Given the description of an element on the screen output the (x, y) to click on. 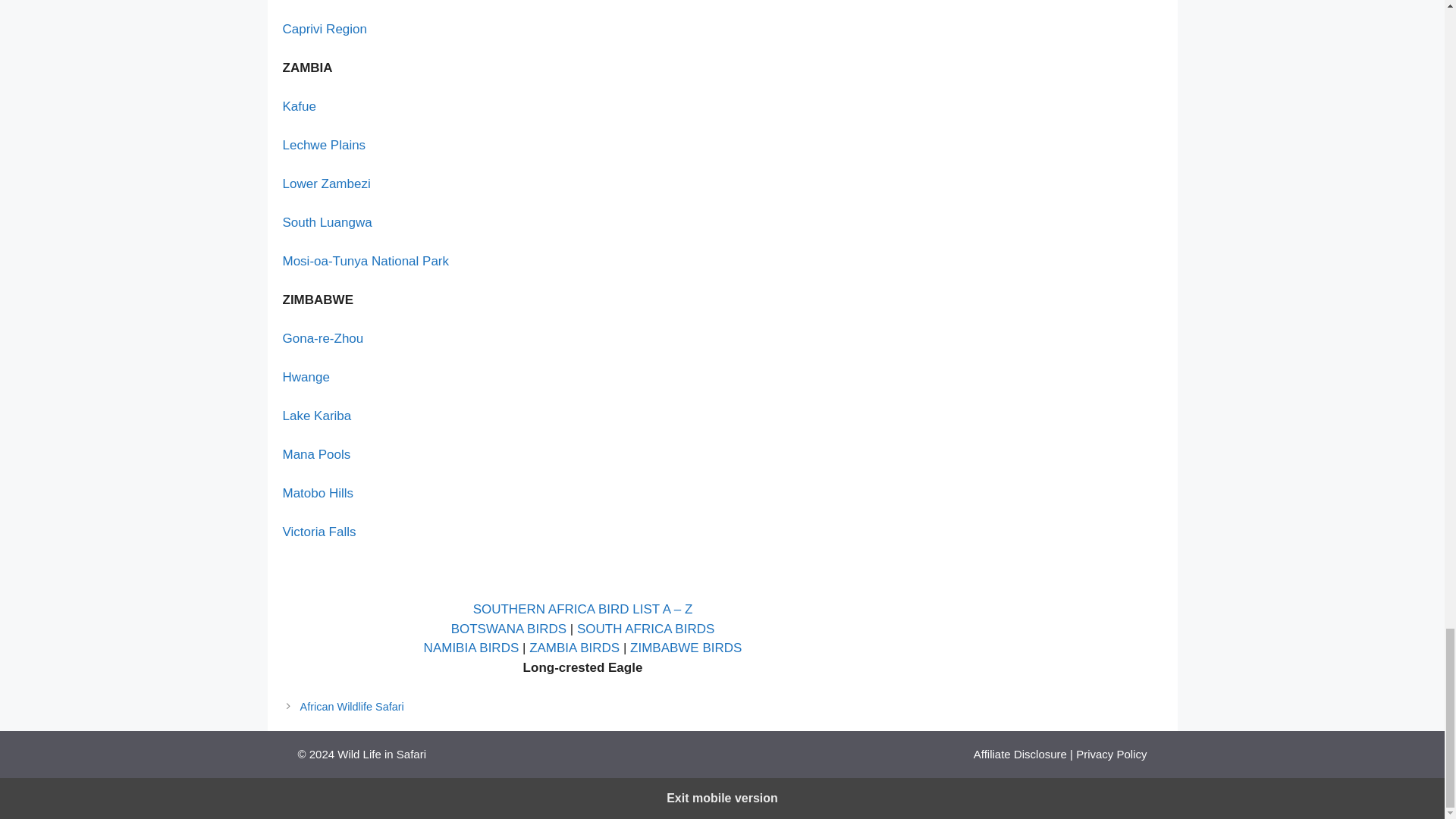
Lechwe Plains (323, 145)
Caprivi Region (324, 29)
Kafue (298, 106)
